Given the description of an element on the screen output the (x, y) to click on. 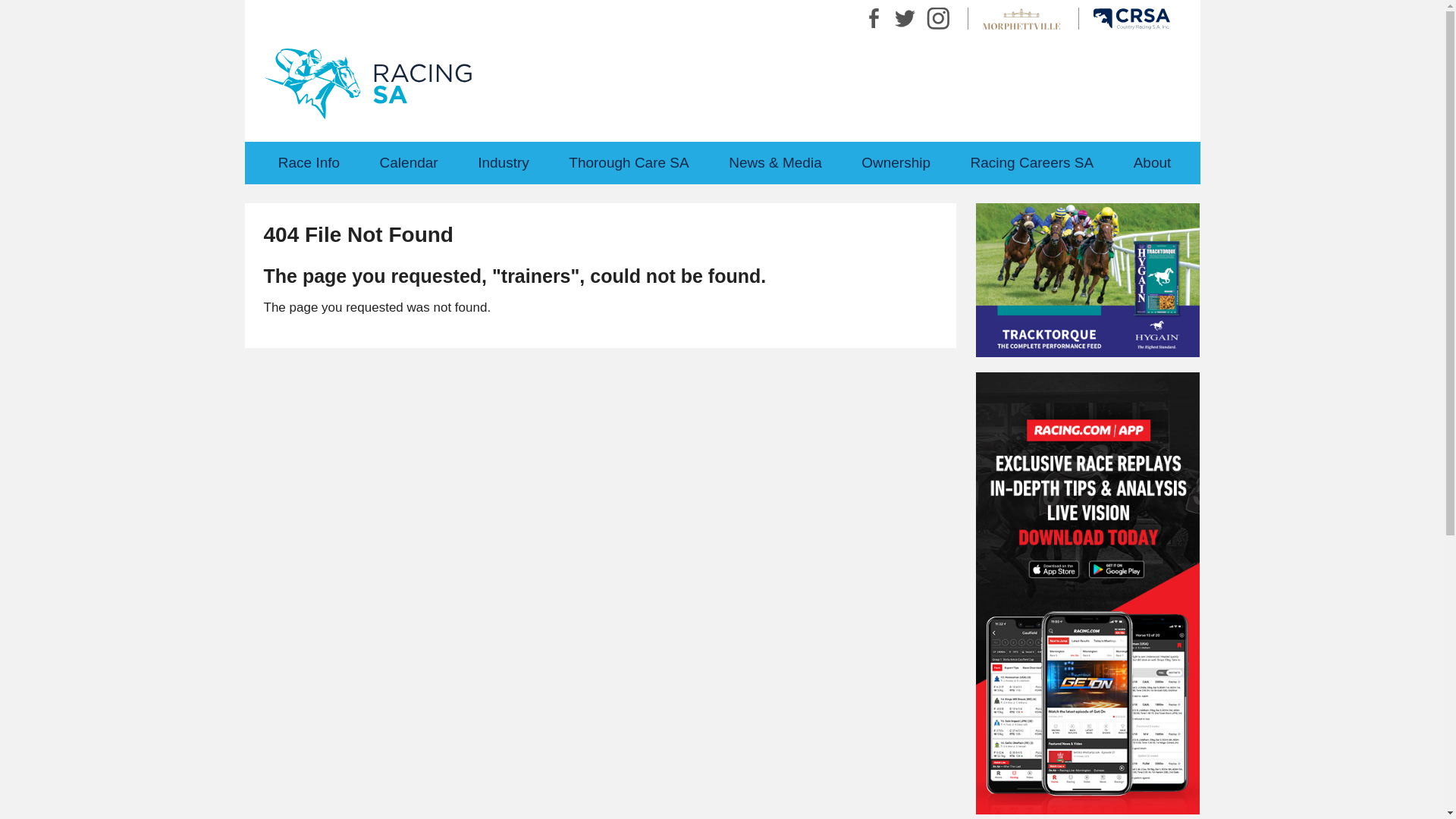
Ownership Element type: text (895, 162)
Racing Careers SA Element type: text (1031, 162)
Industry Element type: text (503, 162)
Calendar Element type: text (408, 162)
Thorough Care SA Element type: text (629, 162)
News & Media Element type: text (775, 162)
About Element type: text (1151, 162)
Morphettville Element type: text (1020, 17)
Race Info Element type: text (308, 162)
Country Racing SA Element type: text (1131, 17)
